Given the description of an element on the screen output the (x, y) to click on. 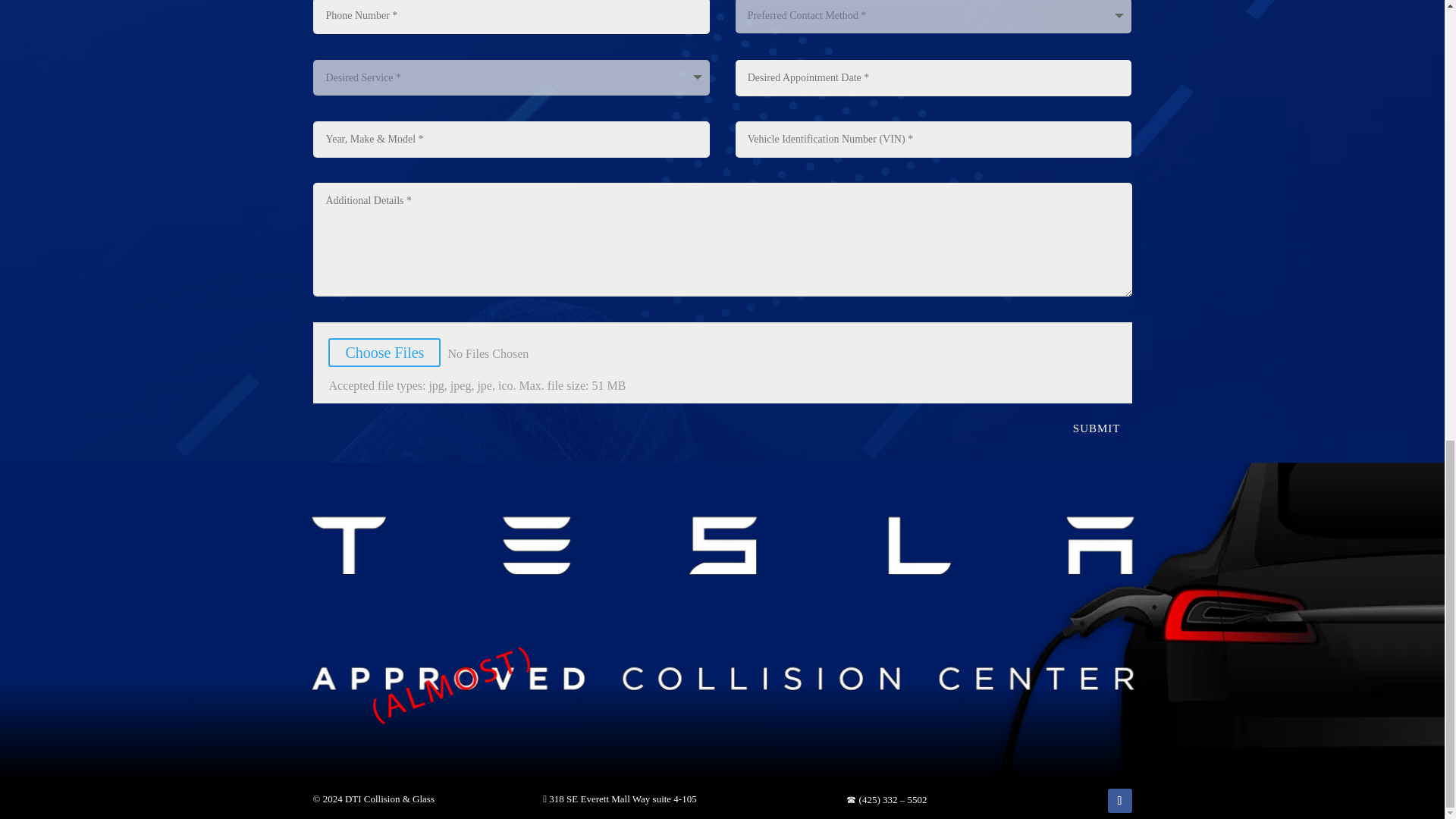
SUBMIT (1096, 429)
Only numbers allowed. (511, 17)
Follow on Facebook (1118, 800)
Click here to call us (885, 799)
